Given the description of an element on the screen output the (x, y) to click on. 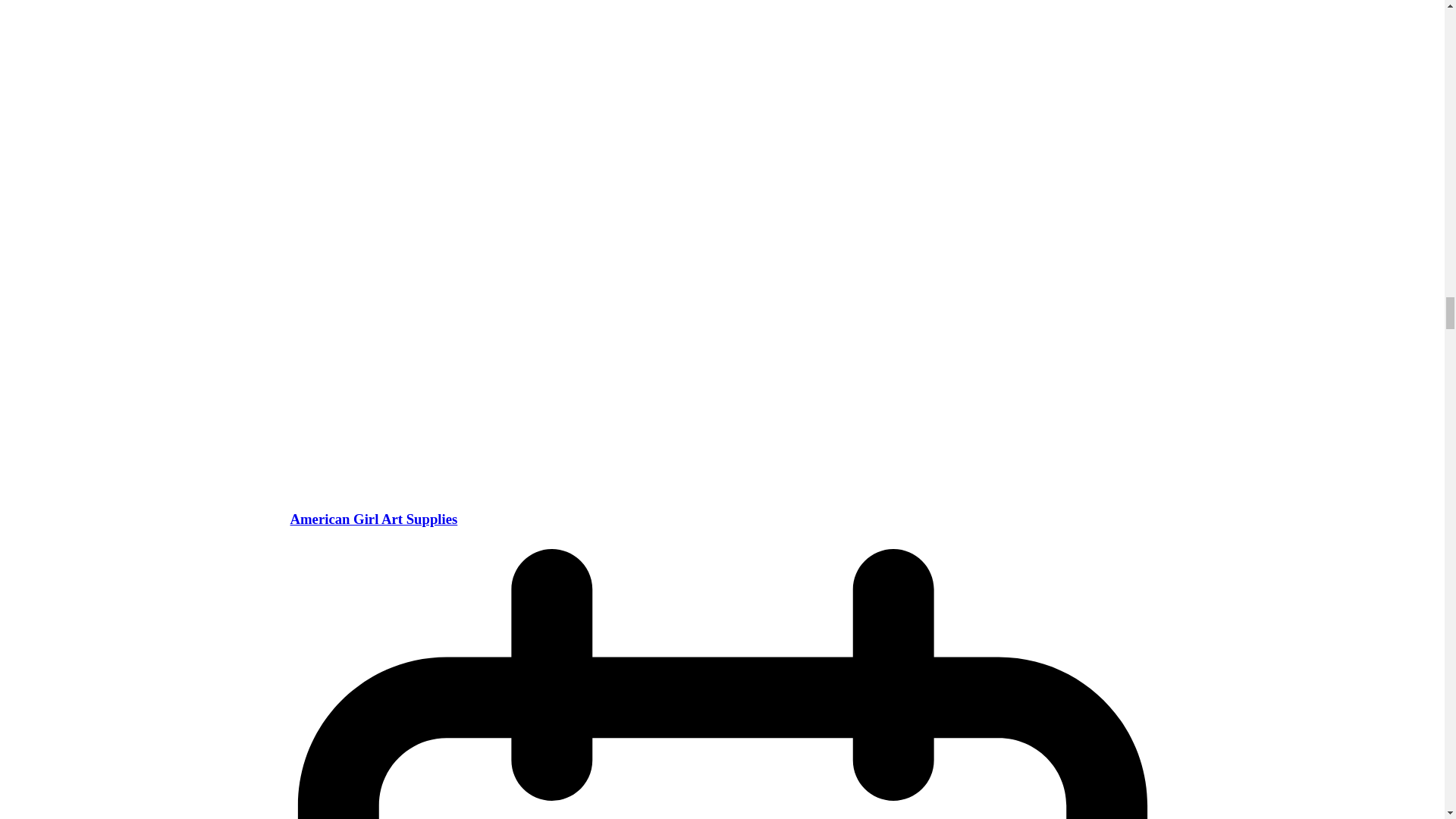
American Girl Art Supplies (373, 519)
